Given the description of an element on the screen output the (x, y) to click on. 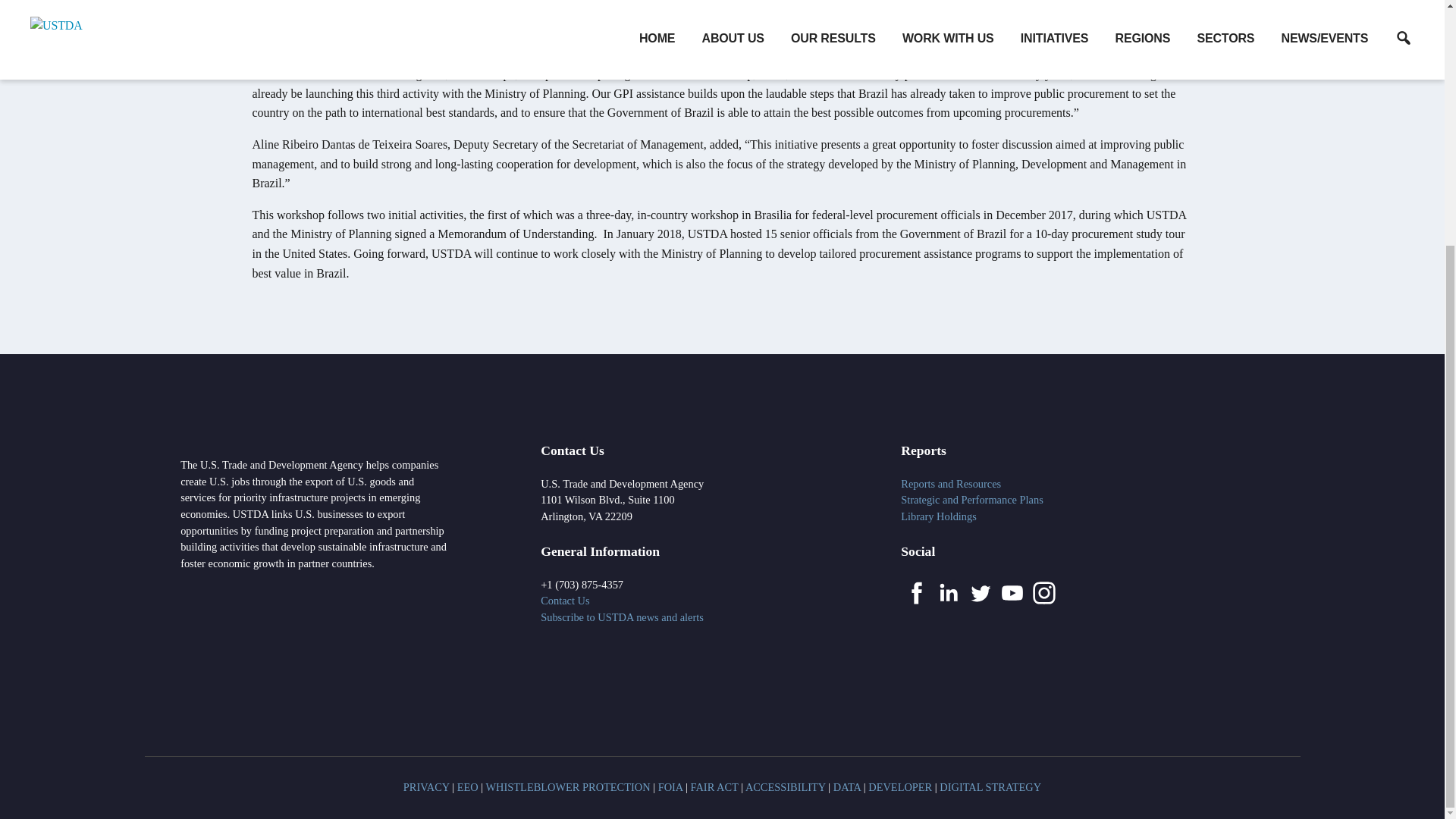
LinkedIn (948, 593)
Facebook (917, 593)
Instagram (1043, 593)
Twitter (979, 593)
YouTube (1011, 593)
